Given the description of an element on the screen output the (x, y) to click on. 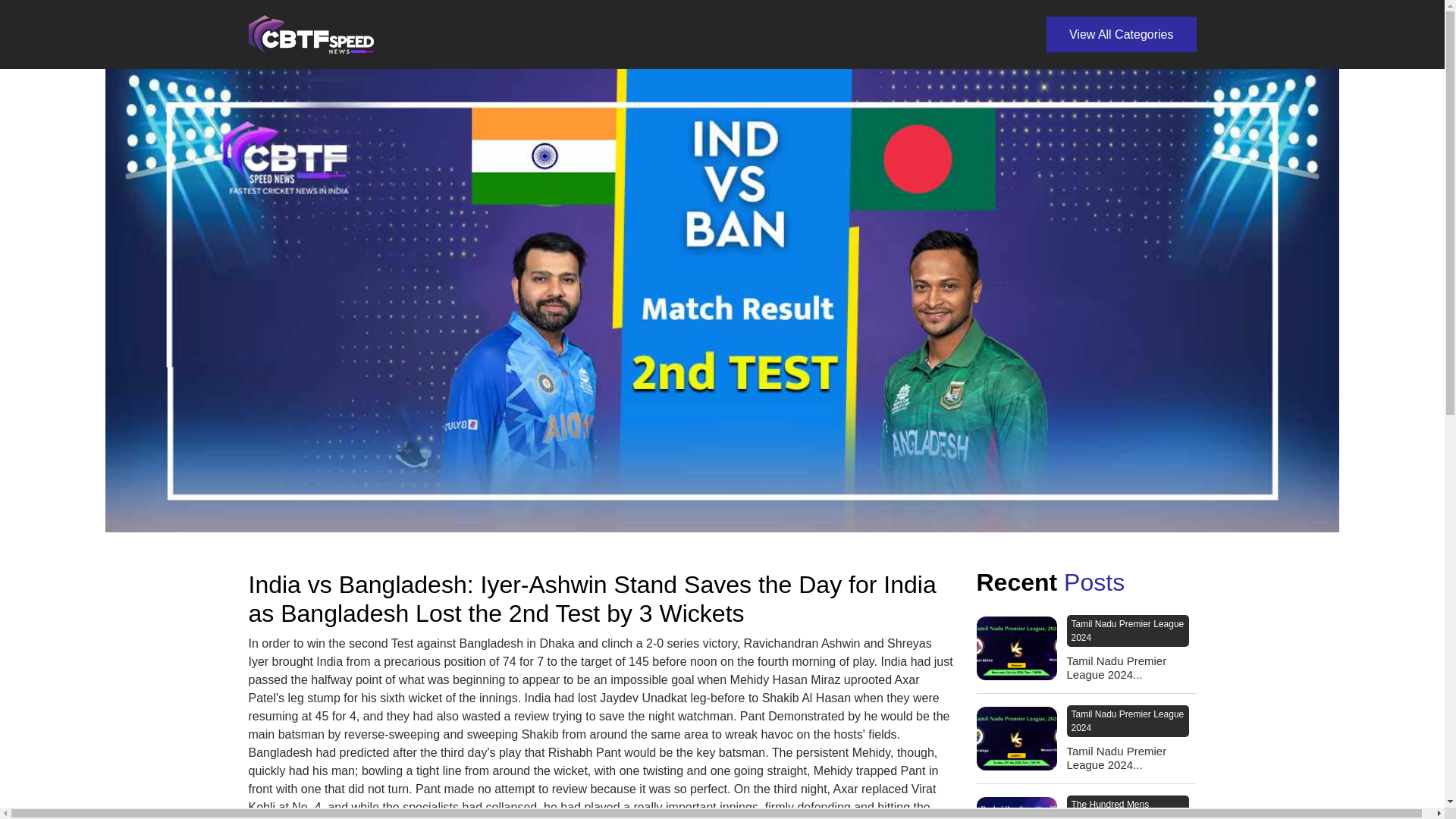
Tamil Nadu Premier League 2024 (1126, 721)
The Hundred Mens Competition 2024 (1126, 807)
Tamil Nadu Premier League 2024... (1130, 667)
View All Categories (1121, 34)
Tamil Nadu Premier League 2024 (1126, 631)
Tamil Nadu Premier League 2024... (1130, 758)
